Given the description of an element on the screen output the (x, y) to click on. 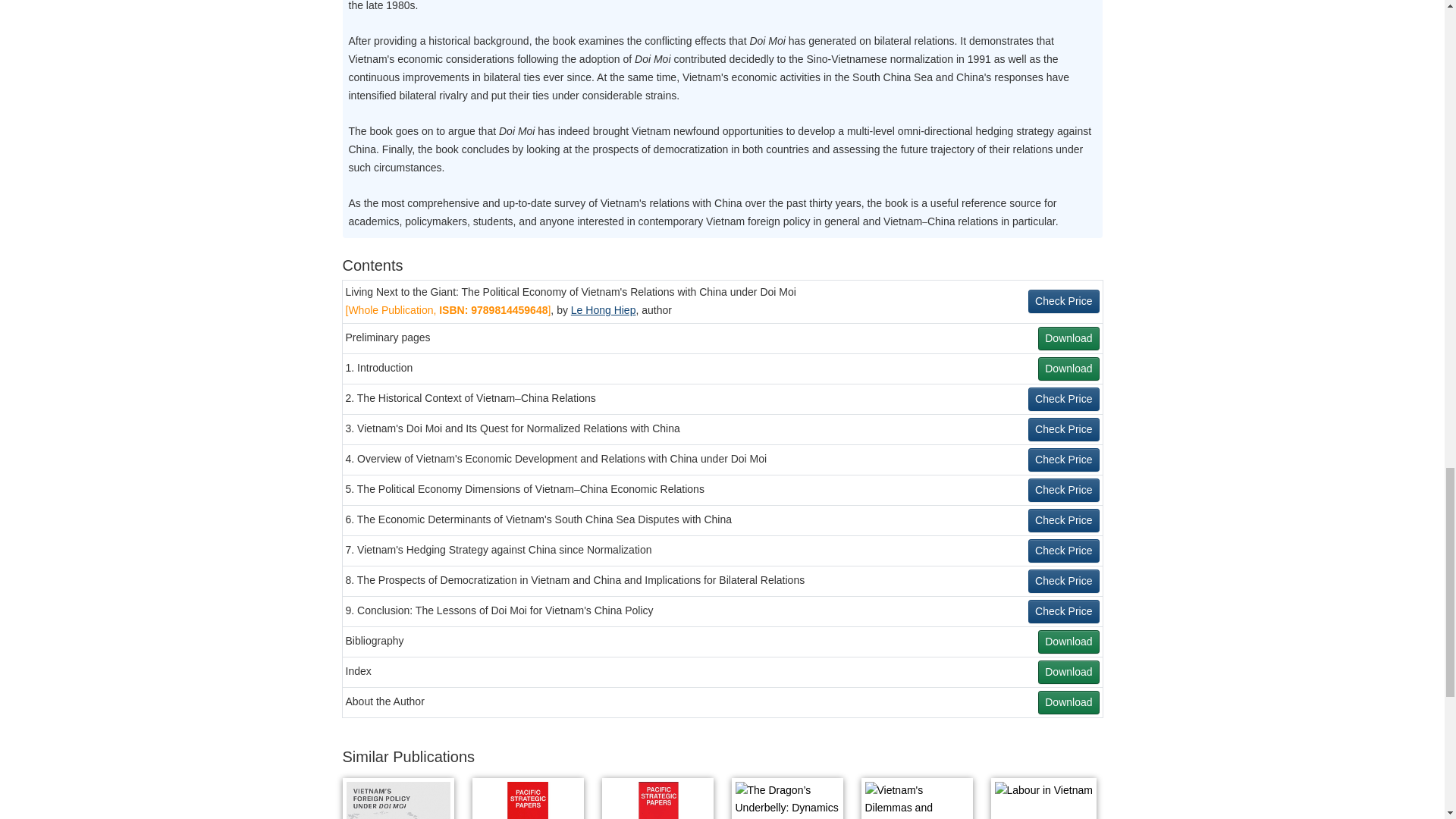
Download (1068, 368)
Check Price (1063, 520)
Le Hong Hiep (603, 309)
Download (1068, 671)
Check Price (1063, 300)
Download (1068, 641)
Check Price (1063, 580)
Check Price (1063, 459)
Download (1068, 702)
Check Price (1063, 611)
